Given the description of an element on the screen output the (x, y) to click on. 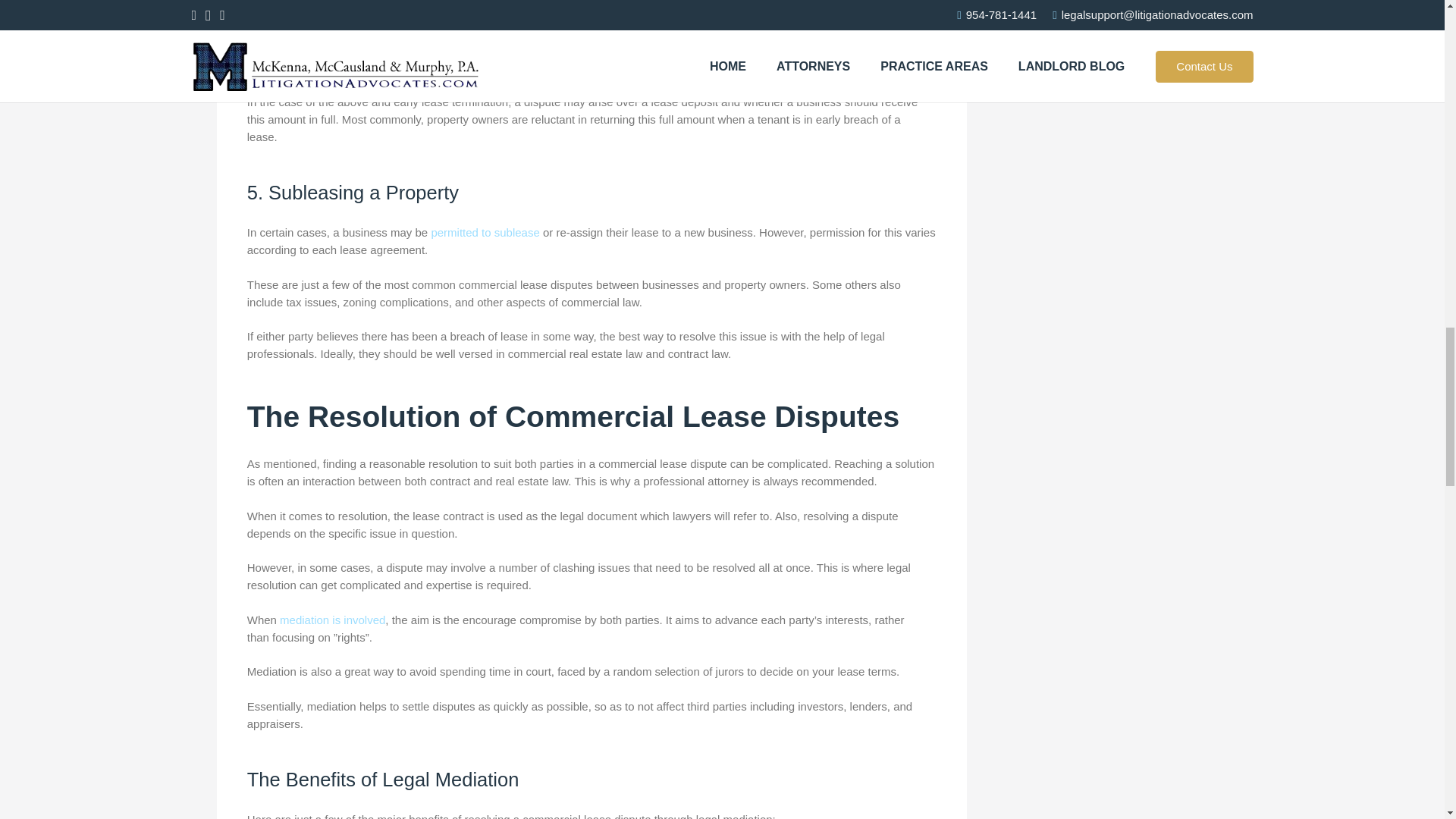
mediation is involved (332, 619)
permitted to sublease (484, 232)
